Given the description of an element on the screen output the (x, y) to click on. 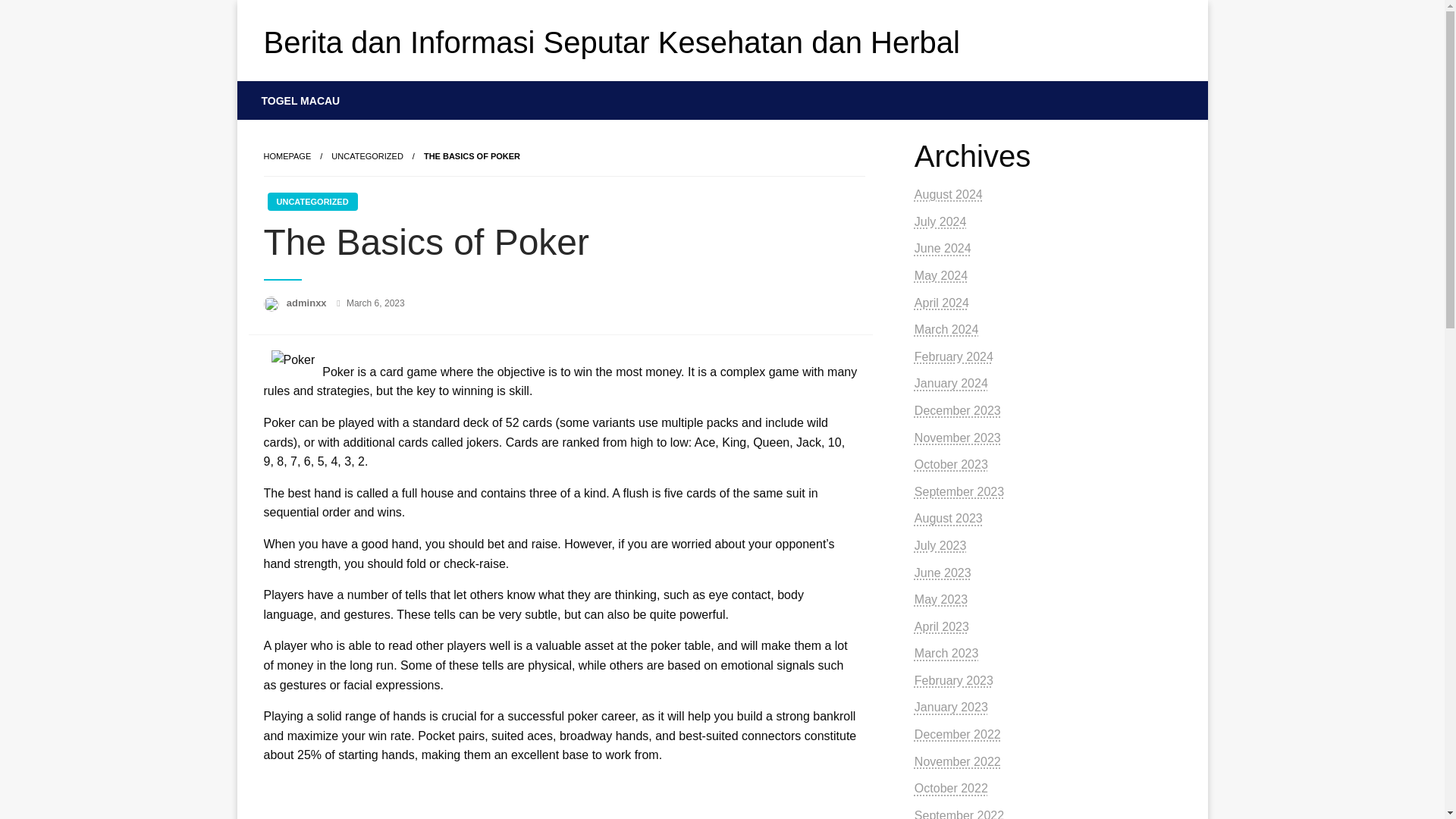
UNCATEGORIZED (367, 155)
Homepage (287, 155)
The Basics of Poker (471, 155)
May 2024 (941, 275)
Berita dan Informasi Seputar Kesehatan dan Herbal (611, 41)
November 2023 (957, 437)
March 6, 2023 (375, 303)
June 2024 (942, 247)
February 2024 (953, 356)
TOGEL MACAU (300, 100)
